Given the description of an element on the screen output the (x, y) to click on. 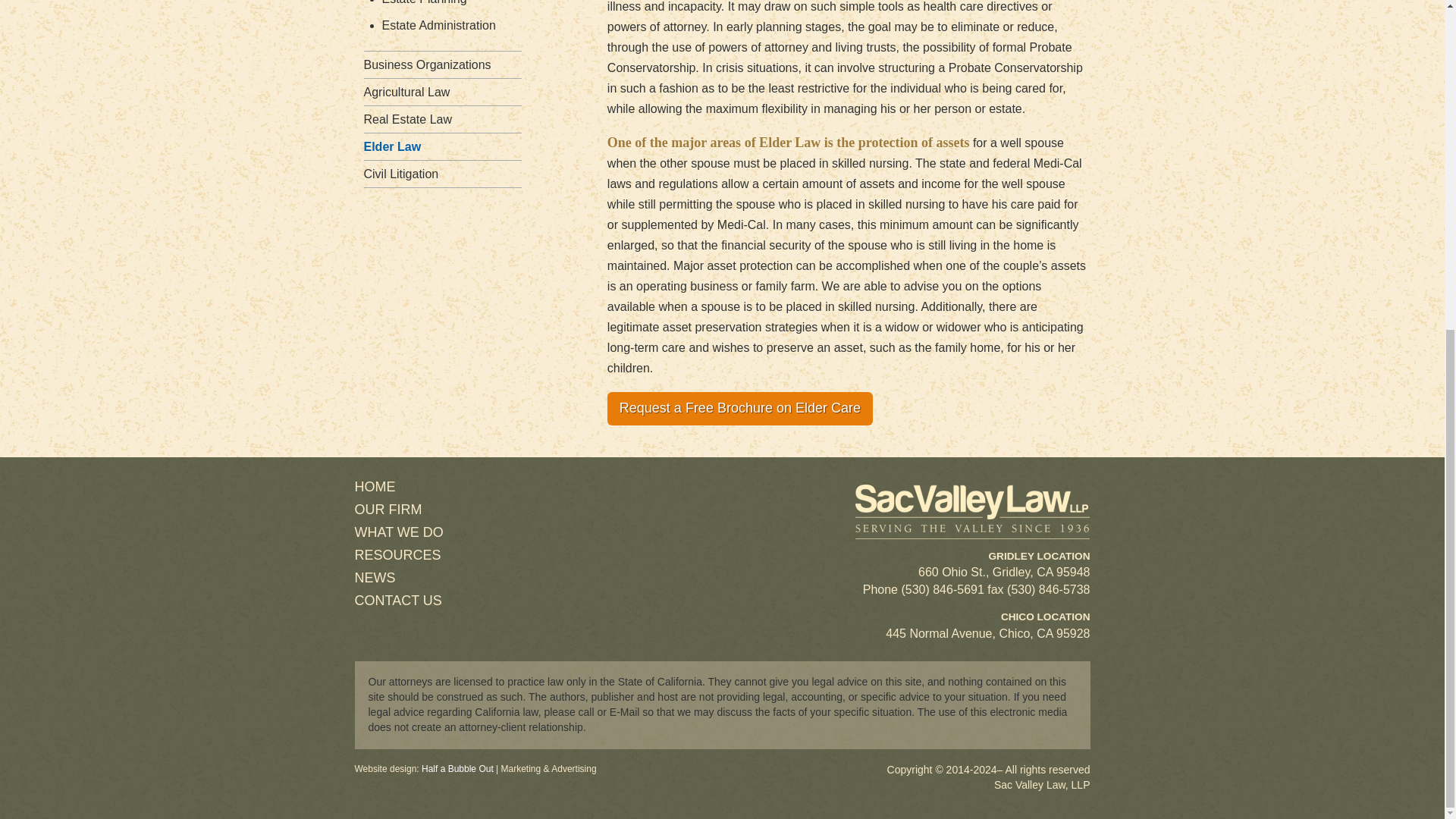
CONTACT US (398, 600)
Estate Planning (424, 2)
Estate Administration (438, 24)
Business Organizations (428, 64)
OUR FIRM (388, 509)
Agricultural Law (406, 91)
HOME (375, 486)
Elder Law (393, 146)
Request a Free Brochure on Elder Care (739, 408)
NEWS (375, 577)
RESOURCES (398, 554)
WHAT WE DO (399, 531)
Civil Litigation (401, 173)
Real Estate Law (408, 119)
Half a Bubble Out (457, 768)
